Given the description of an element on the screen output the (x, y) to click on. 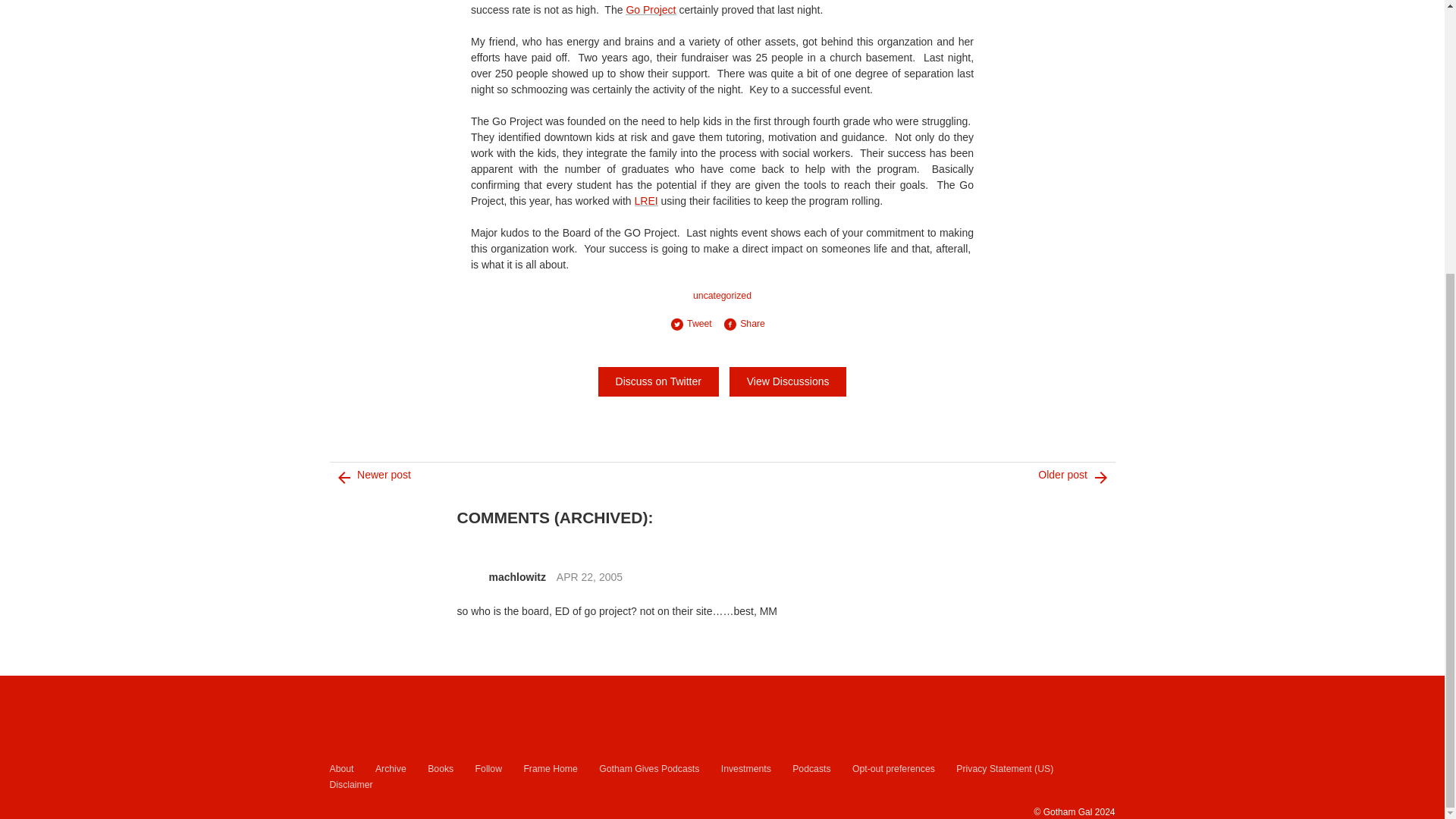
Books (440, 768)
View Discussions (788, 381)
Opt-out preferences (892, 768)
Frame Home (549, 768)
View Discussions (788, 381)
Frame Home (549, 768)
Tweet (696, 323)
LREI (646, 200)
Follow (489, 768)
About (341, 768)
